Given the description of an element on the screen output the (x, y) to click on. 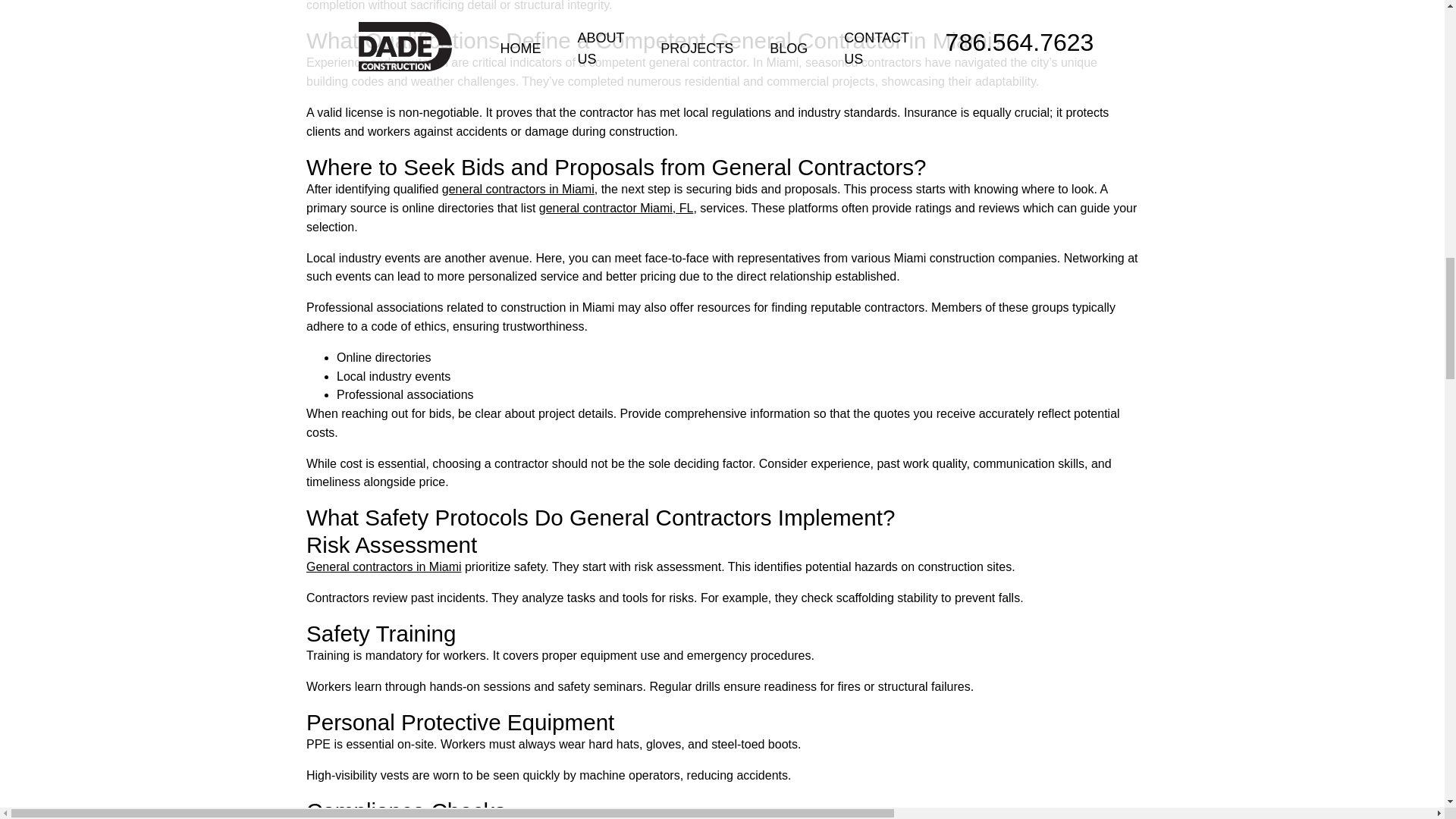
general contractor Miami, FL (616, 207)
general contractors in Miami (518, 188)
General contractors in Miami (383, 566)
